Given the description of an element on the screen output the (x, y) to click on. 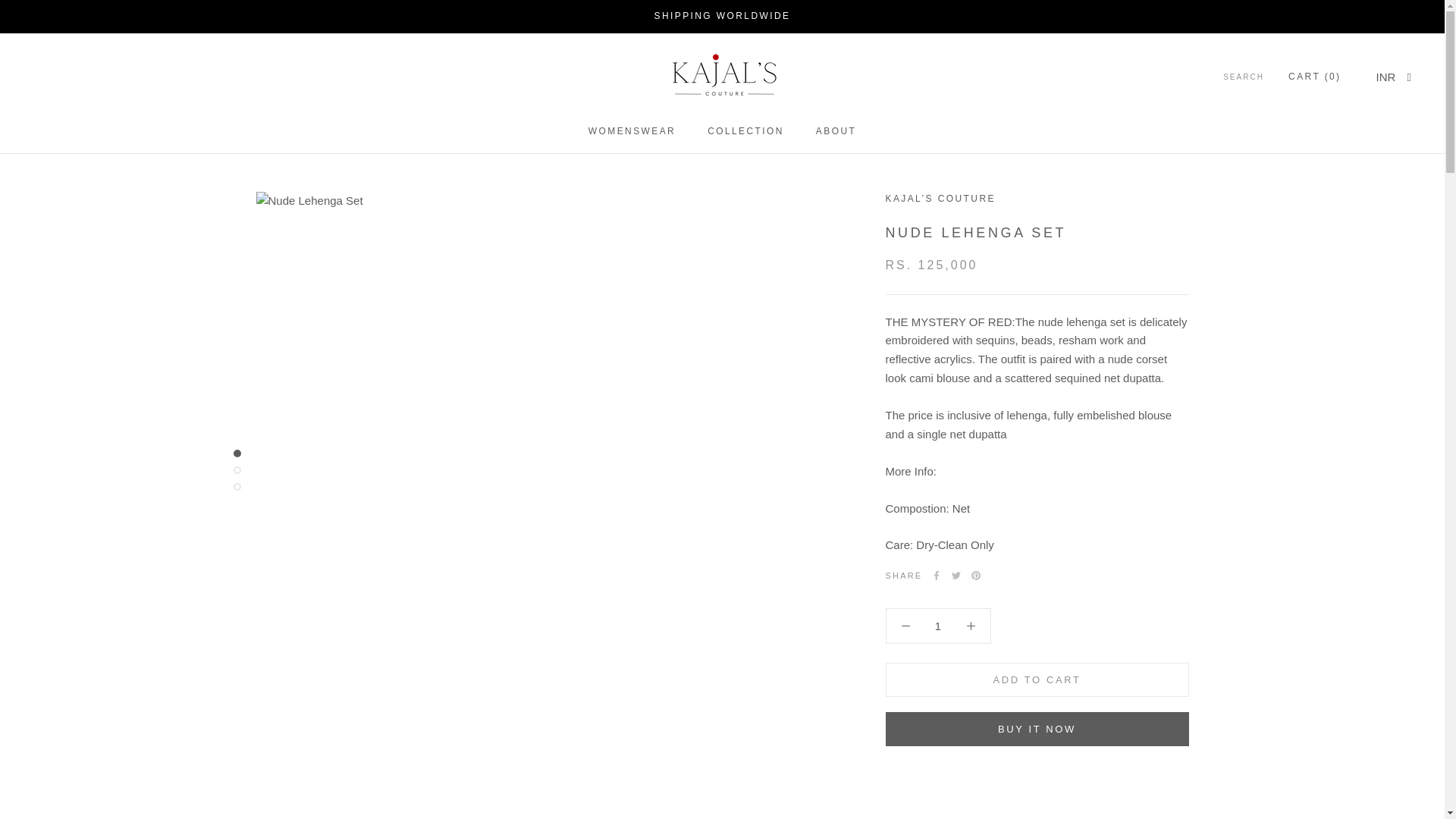
SHIPPING WORLDWIDE (721, 15)
INR (1386, 77)
1 (938, 625)
SEARCH (1243, 77)
WOMENSWEAR (835, 131)
COLLECTION (631, 131)
